Given the description of an element on the screen output the (x, y) to click on. 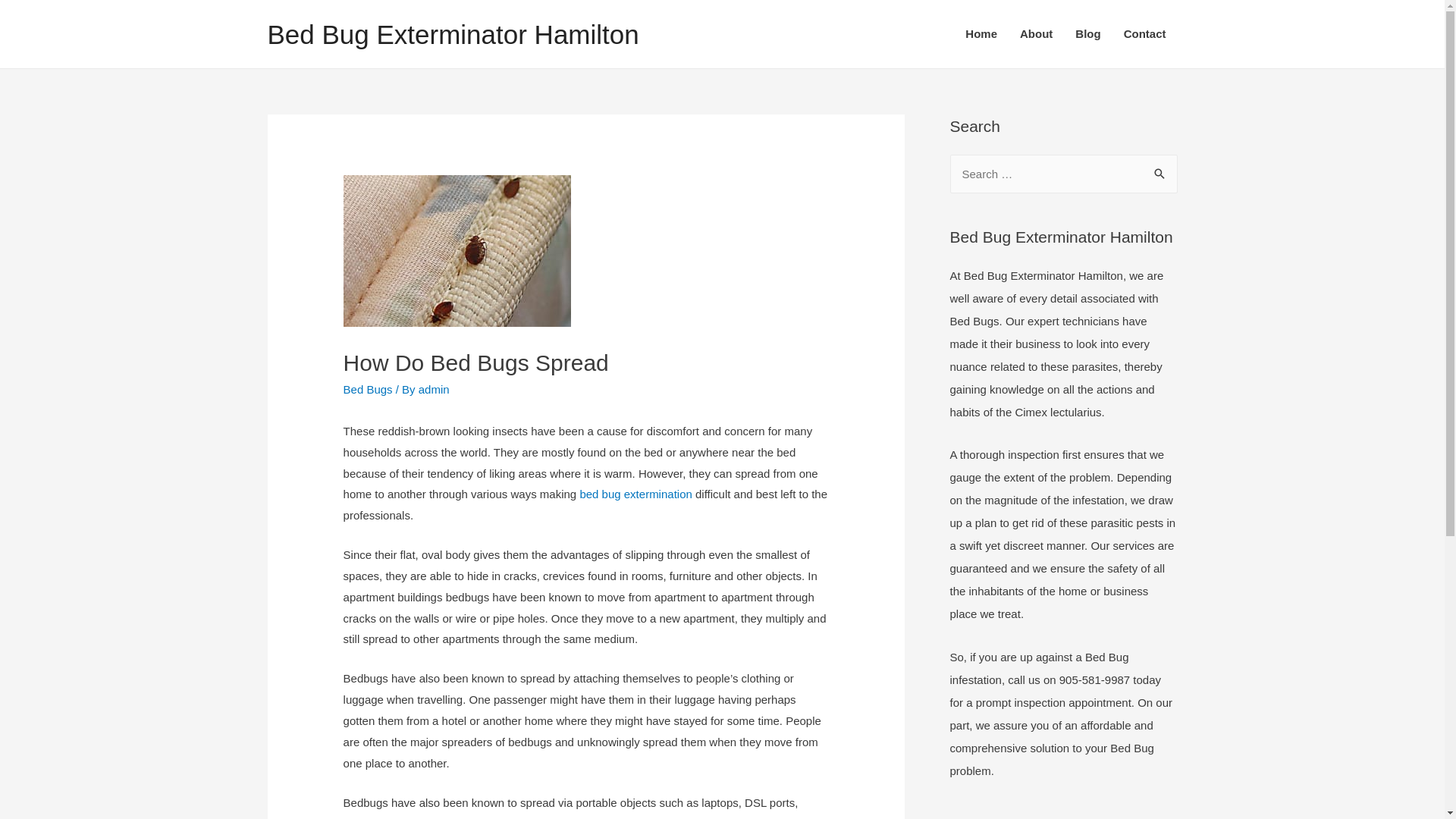
About Element type: text (1035, 33)
bed bug extermination Element type: text (635, 493)
Bed Bug Exterminator Hamilton Element type: text (452, 34)
Bed Bugs Element type: text (367, 388)
Home Element type: text (980, 33)
Contact Element type: text (1144, 33)
Blog Element type: text (1087, 33)
admin Element type: text (433, 388)
Search Element type: text (1160, 174)
